Given the description of an element on the screen output the (x, y) to click on. 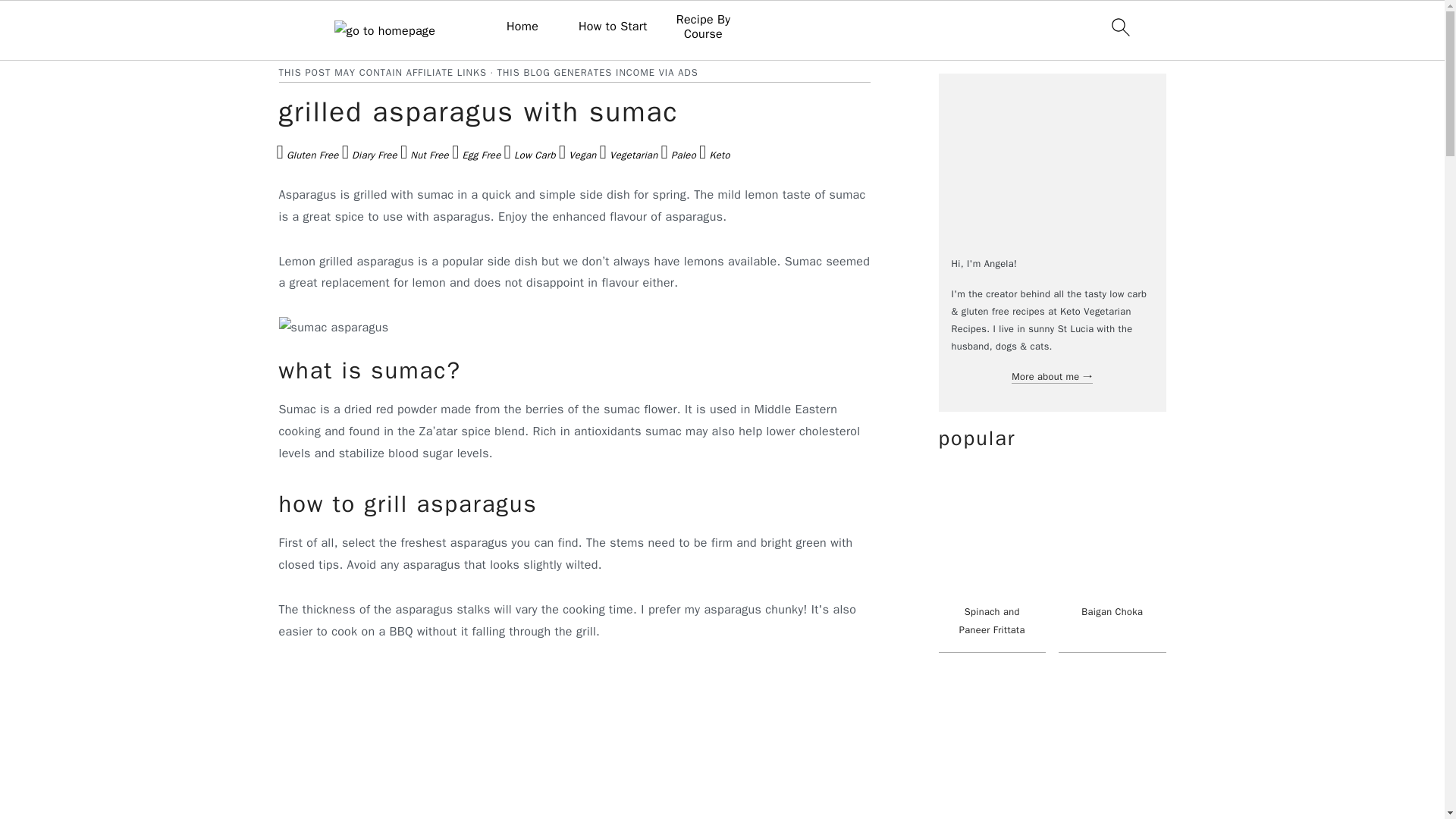
Gluten Free (307, 156)
Keto (714, 156)
Vegan (577, 156)
Nut Free (423, 156)
Low Carb (529, 156)
Paleo (678, 156)
Vegetarian (628, 156)
search icon (1119, 26)
Dairy Free (369, 156)
Egg Free (475, 156)
